Given the description of an element on the screen output the (x, y) to click on. 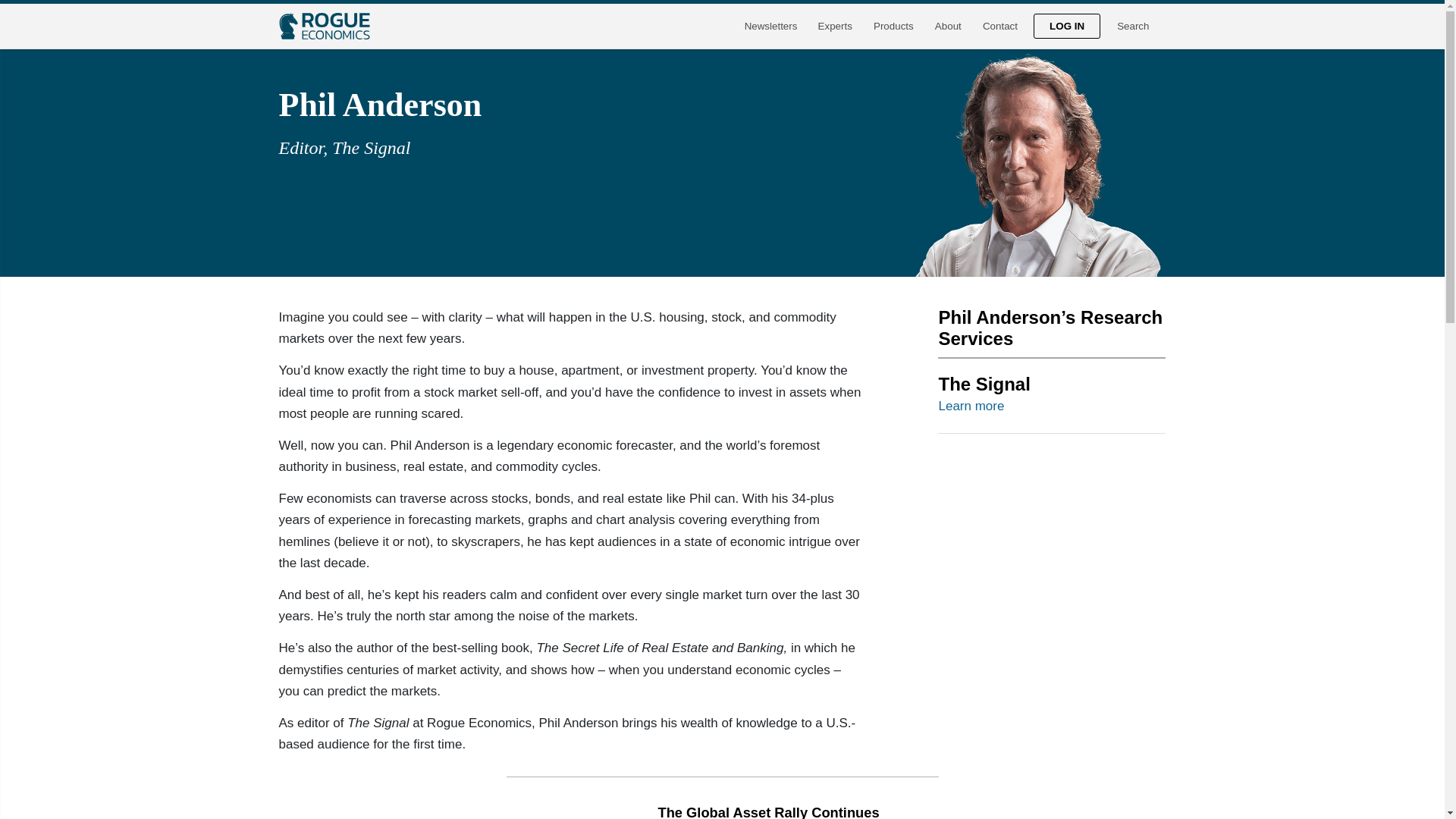
Contact (999, 25)
LOG IN (1066, 25)
The Global Asset Rally Continues (768, 811)
Experts (834, 25)
About (948, 25)
Products (892, 25)
Learn more (970, 405)
Rogue Economics (324, 26)
Search (1133, 25)
